Given the description of an element on the screen output the (x, y) to click on. 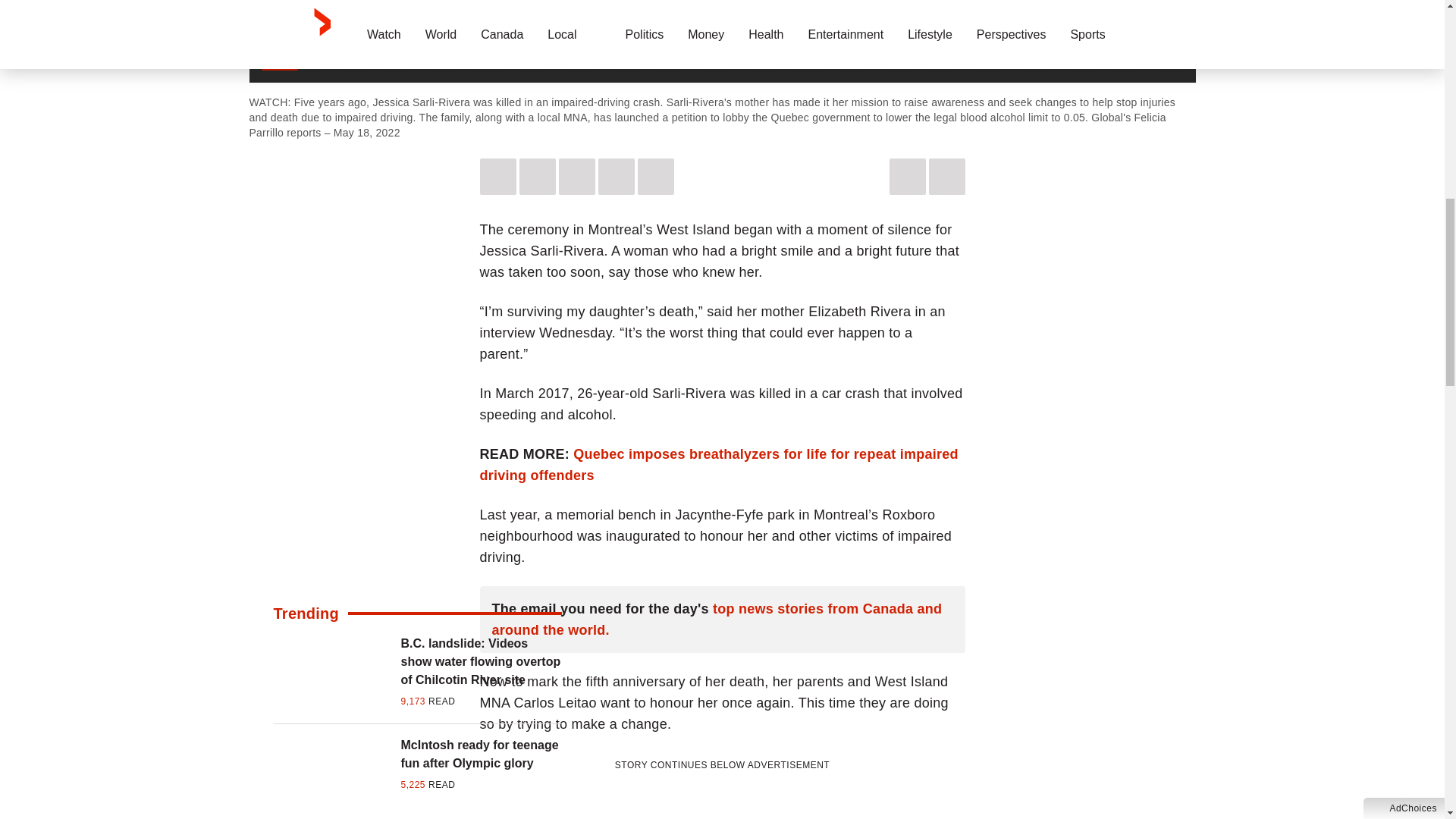
McIntosh ready for teenage fun after Olympic glory (480, 754)
